Given the description of an element on the screen output the (x, y) to click on. 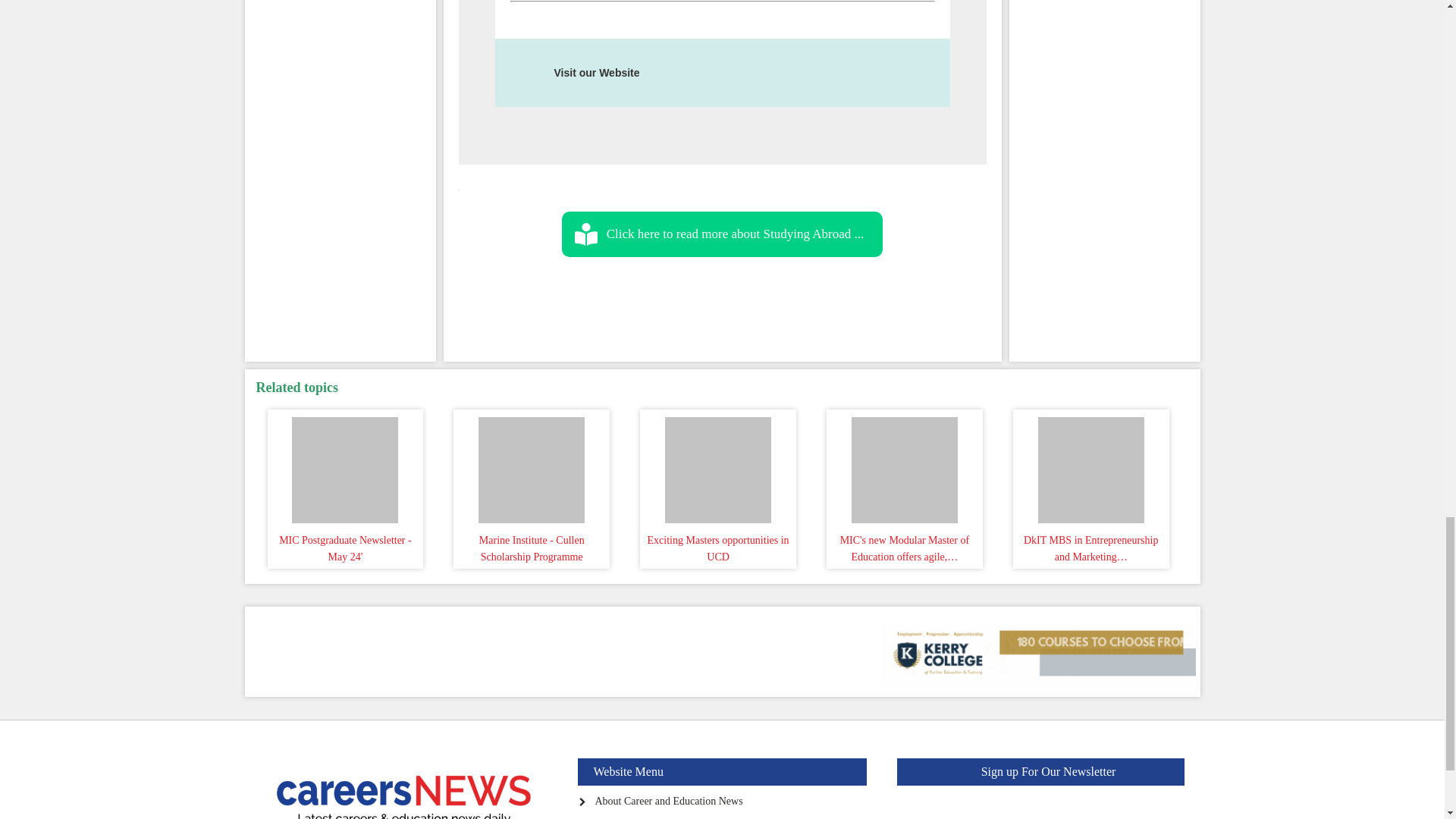
Marine Institute - Cullen Scholarship Programme (531, 466)
Exciting Masters opportunities in UCD (717, 466)
MIC Postgraduate Newsletter - May 24' (345, 466)
